Given the description of an element on the screen output the (x, y) to click on. 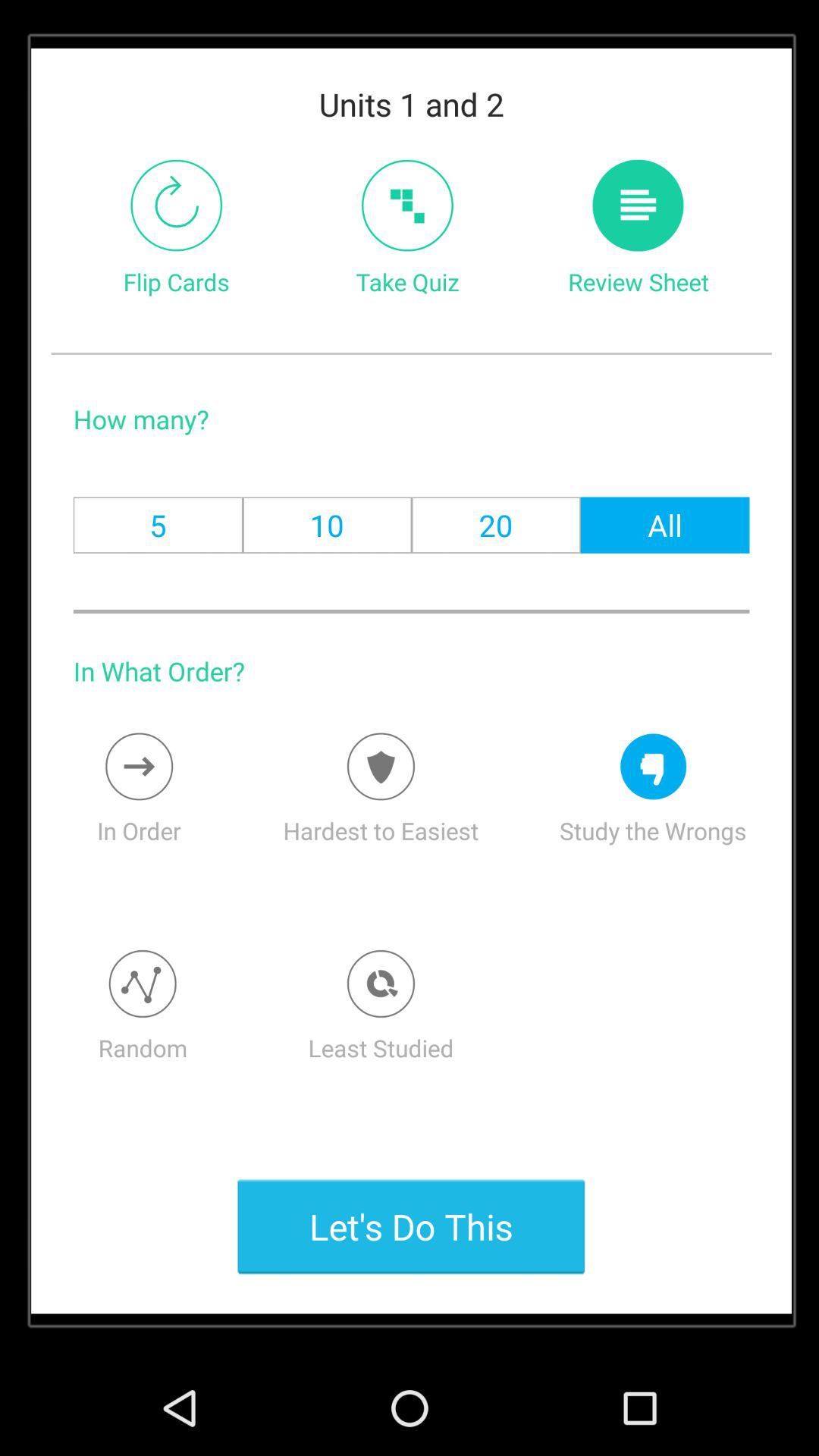
switch autoplay (176, 205)
